Given the description of an element on the screen output the (x, y) to click on. 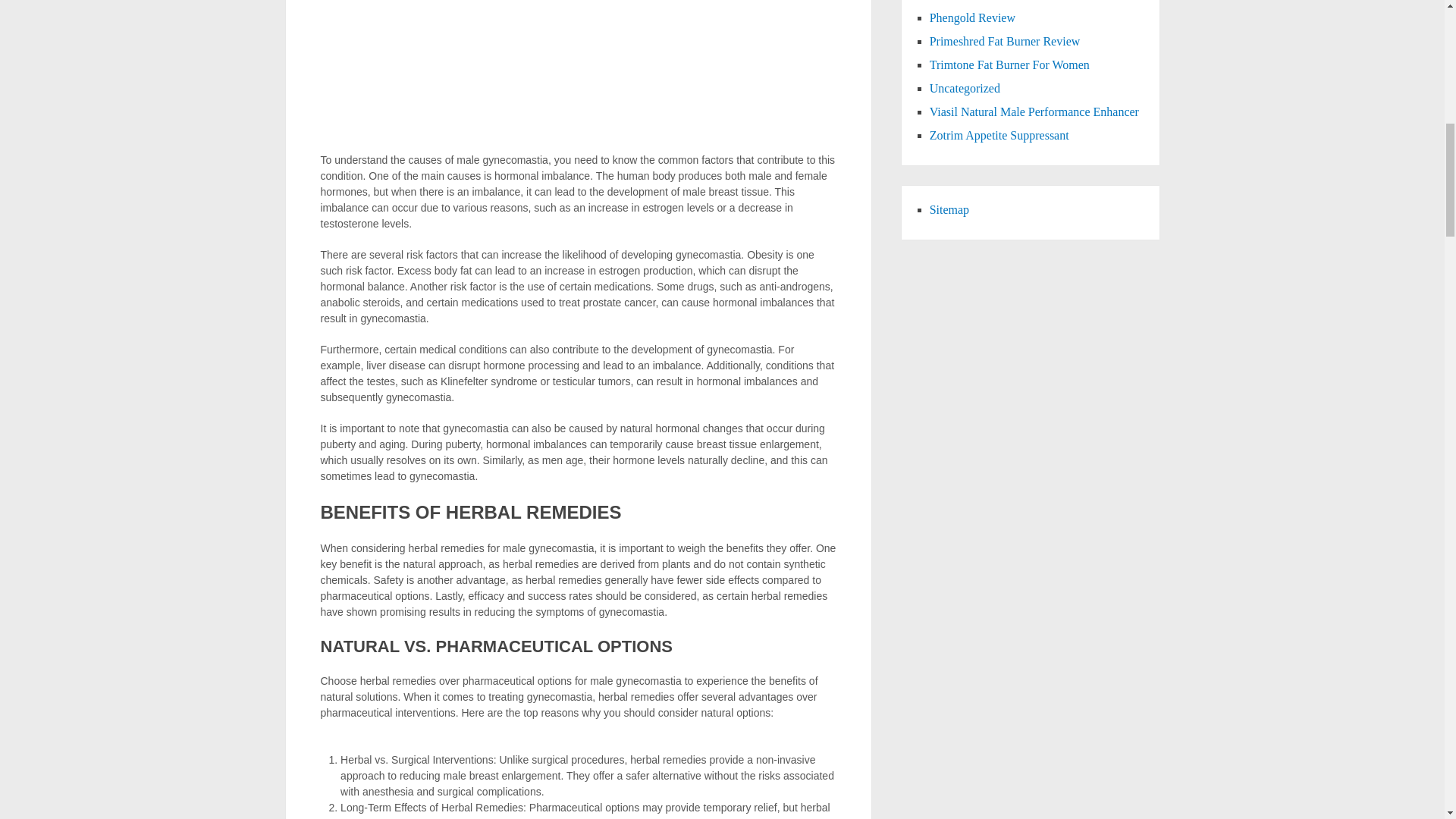
Primeshred Fat Burner Review (1005, 41)
YouTube video player (577, 76)
Phengold Review (972, 17)
Trimtone Fat Burner For Women (1009, 64)
Uncategorized (965, 88)
